Given the description of an element on the screen output the (x, y) to click on. 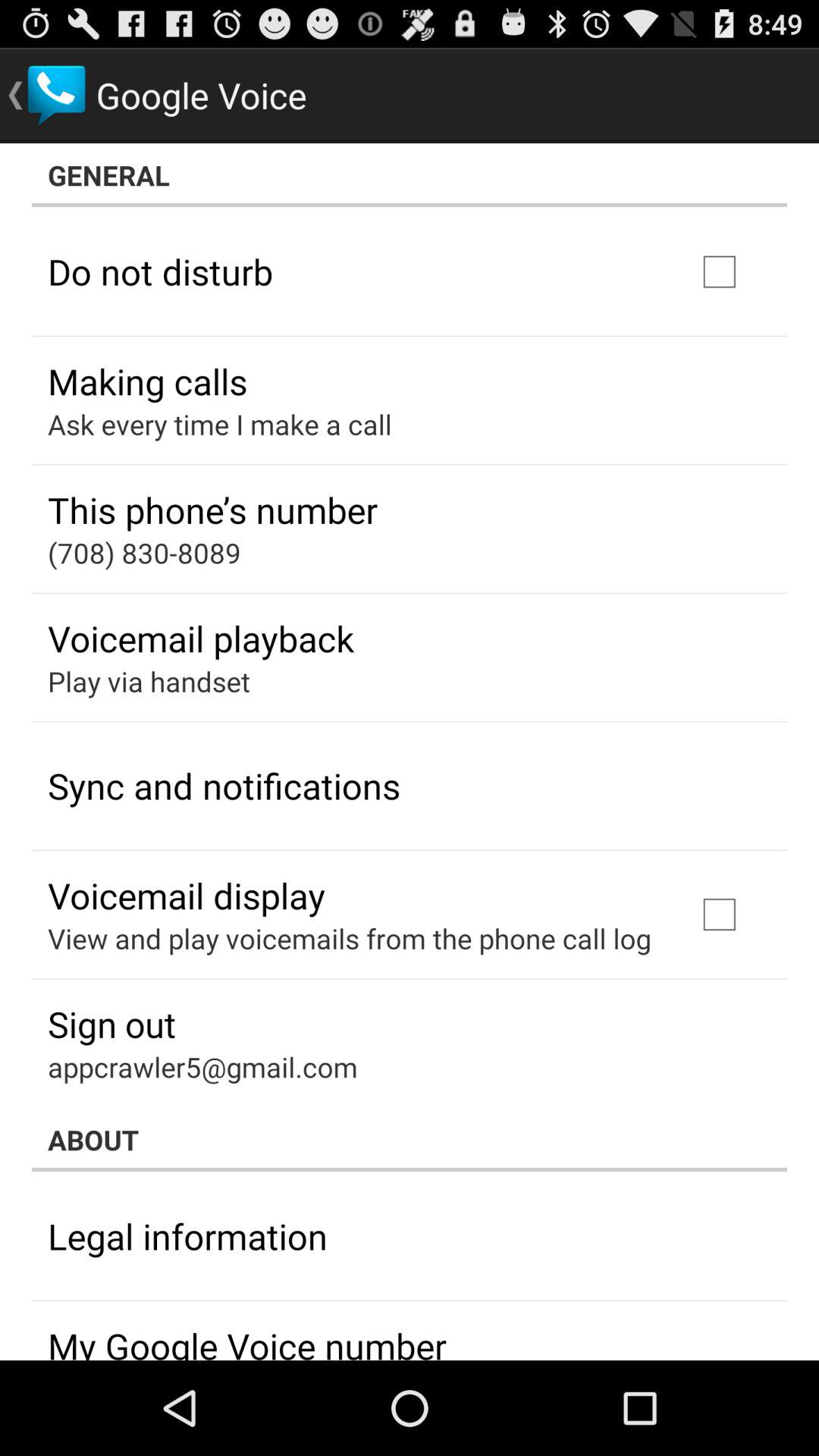
open the voicemail display app (186, 895)
